Given the description of an element on the screen output the (x, y) to click on. 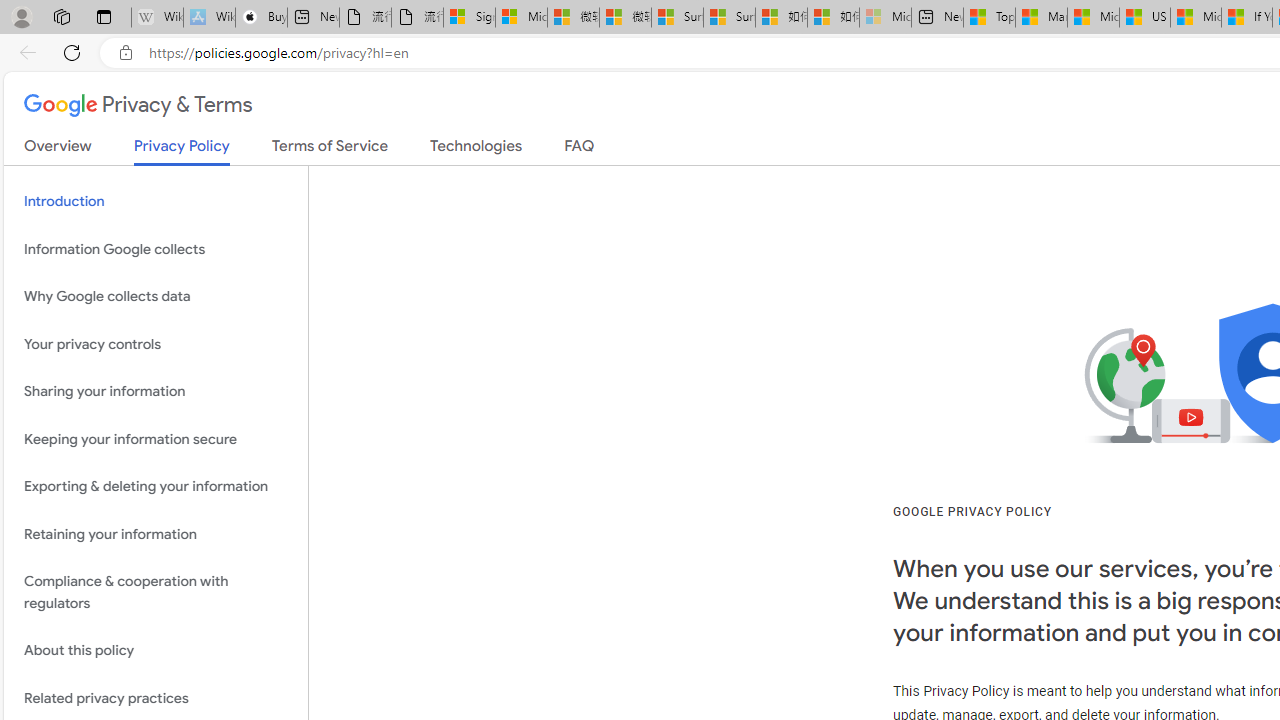
Privacy & Terms (138, 106)
Top Stories - MSN (989, 17)
Compliance & cooperation with regulators (155, 592)
Introduction (155, 201)
Sharing your information (155, 391)
Information Google collects (155, 249)
About this policy (155, 651)
